Given the description of an element on the screen output the (x, y) to click on. 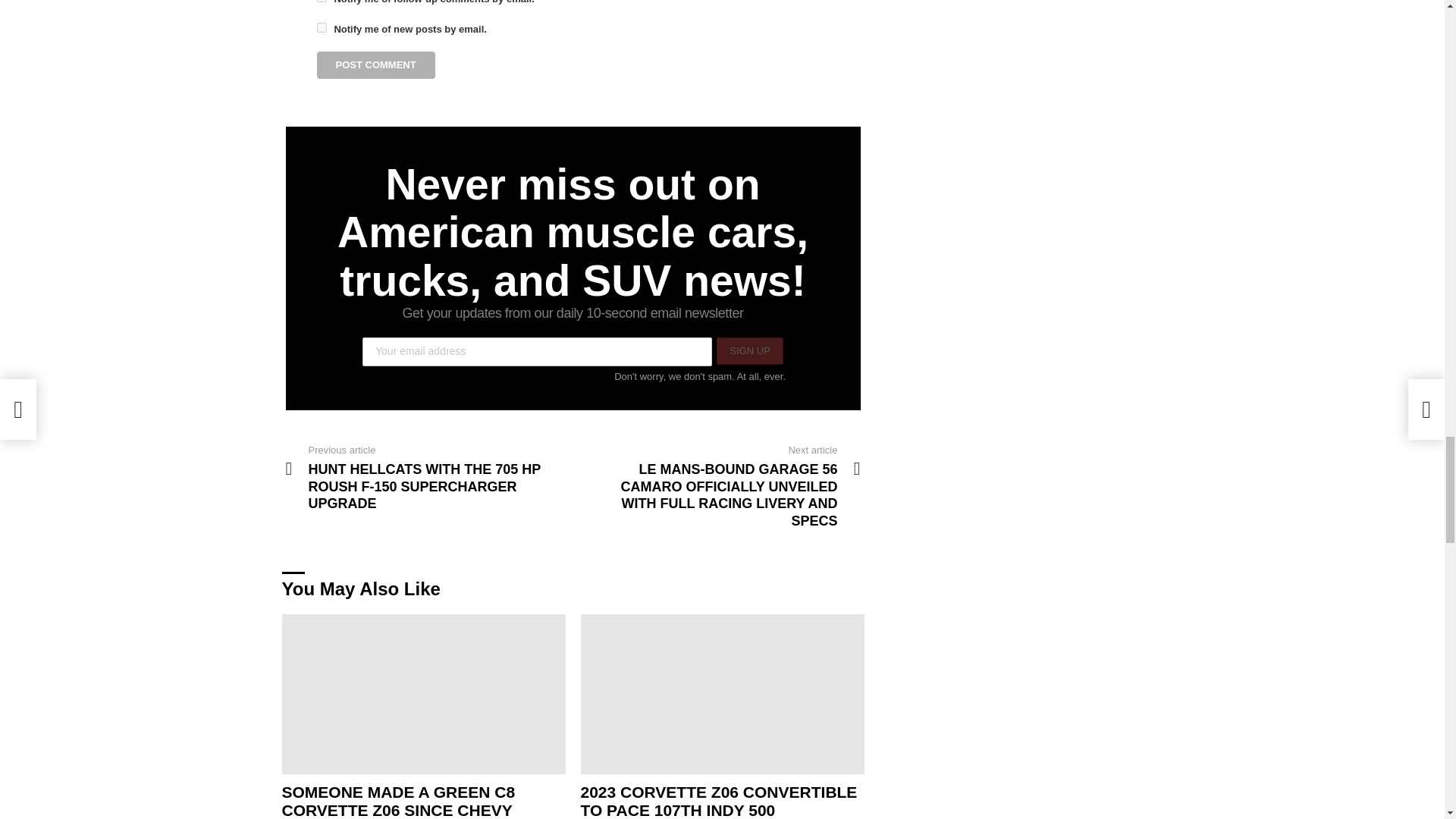
Sign up (749, 351)
Post Comment (376, 64)
subscribe (321, 27)
